Given the description of an element on the screen output the (x, y) to click on. 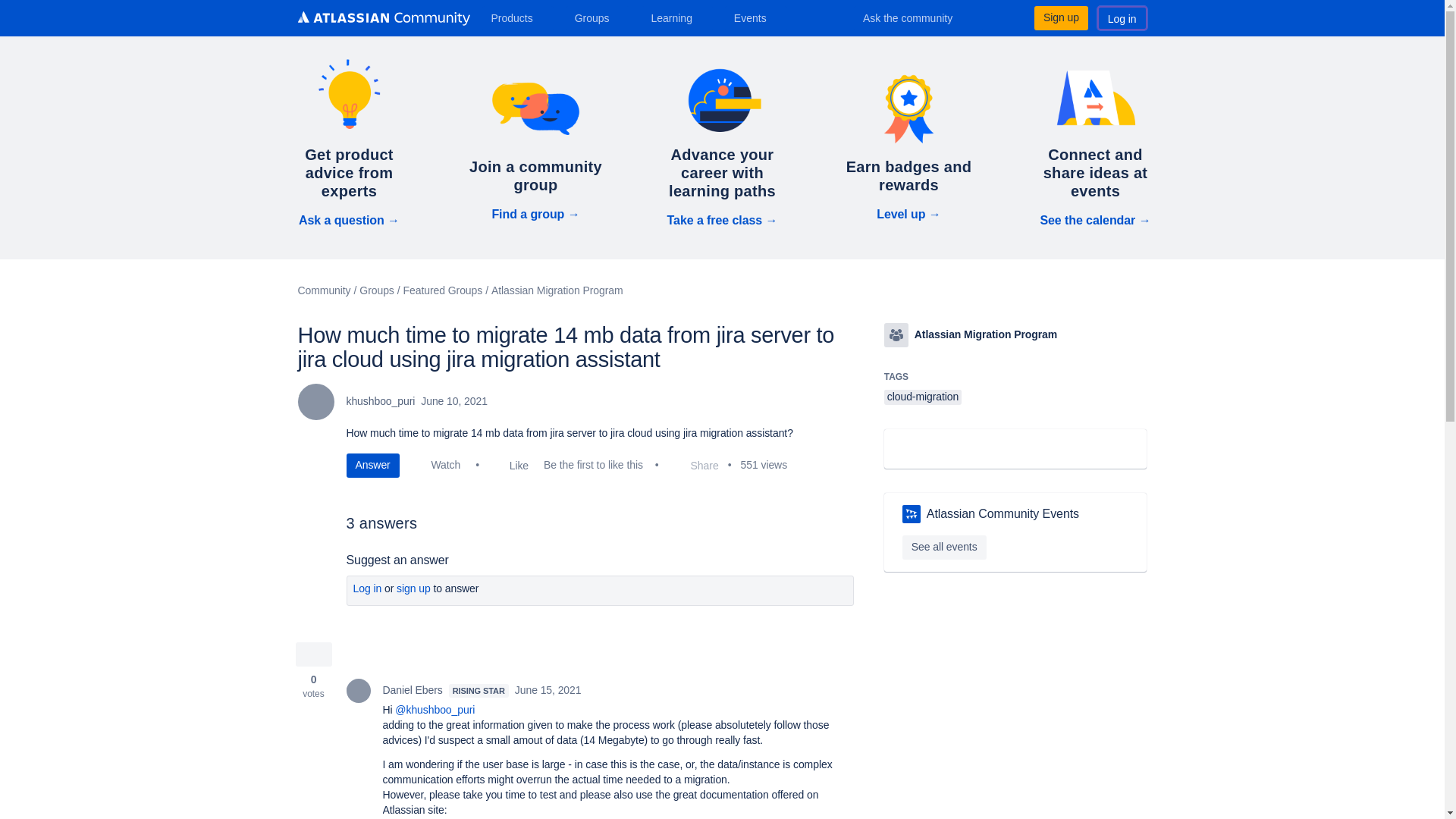
Learning (676, 17)
Daniel Ebers (357, 690)
Events (756, 17)
groups-icon (895, 334)
Atlassian Community logo (382, 19)
Sign up (1060, 17)
Log in (1122, 17)
Atlassian Community logo (382, 18)
Ask the community  (917, 17)
Products (517, 17)
